Given the description of an element on the screen output the (x, y) to click on. 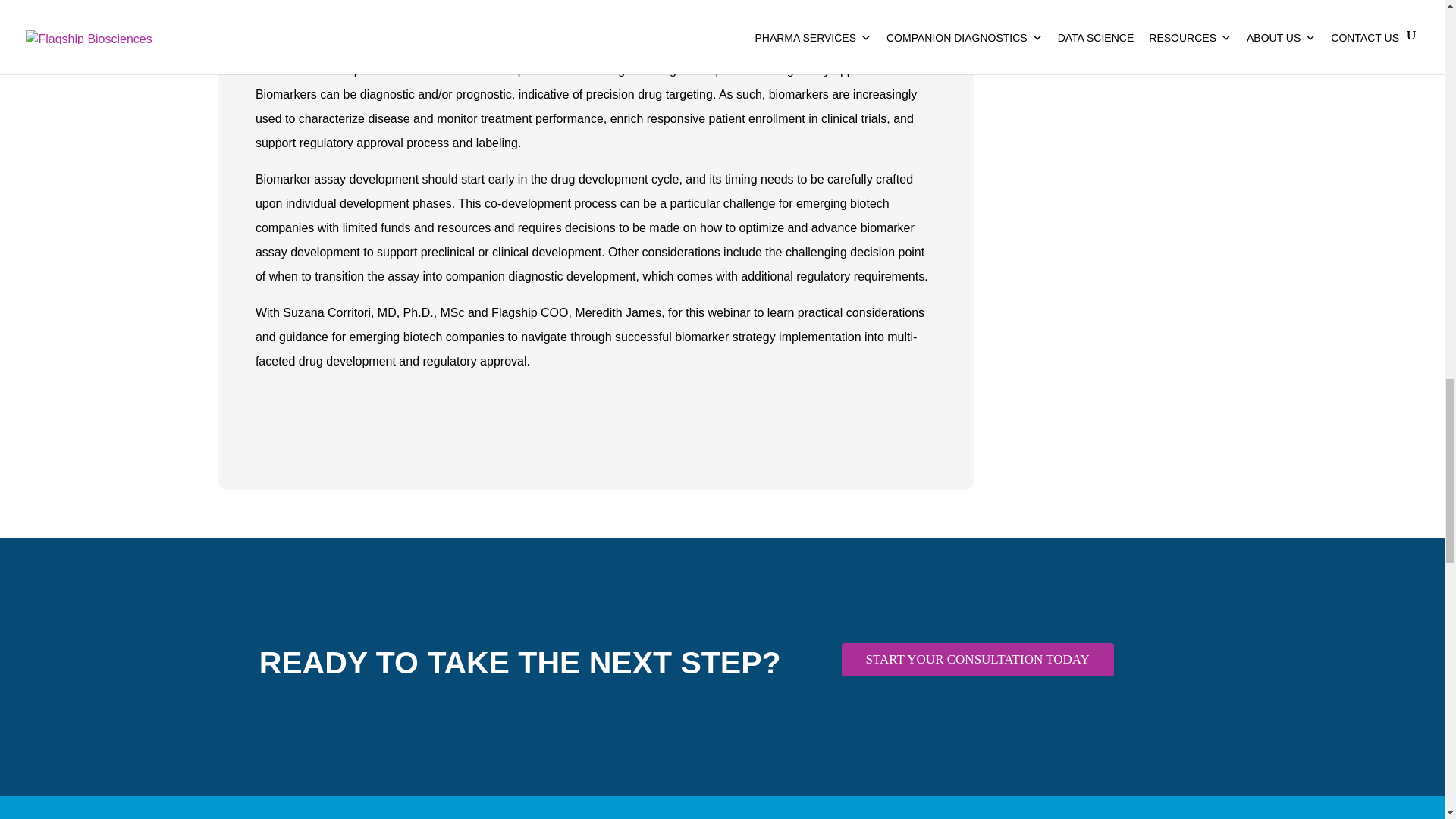
START YOUR CONSULTATION TODAY (977, 659)
